Given the description of an element on the screen output the (x, y) to click on. 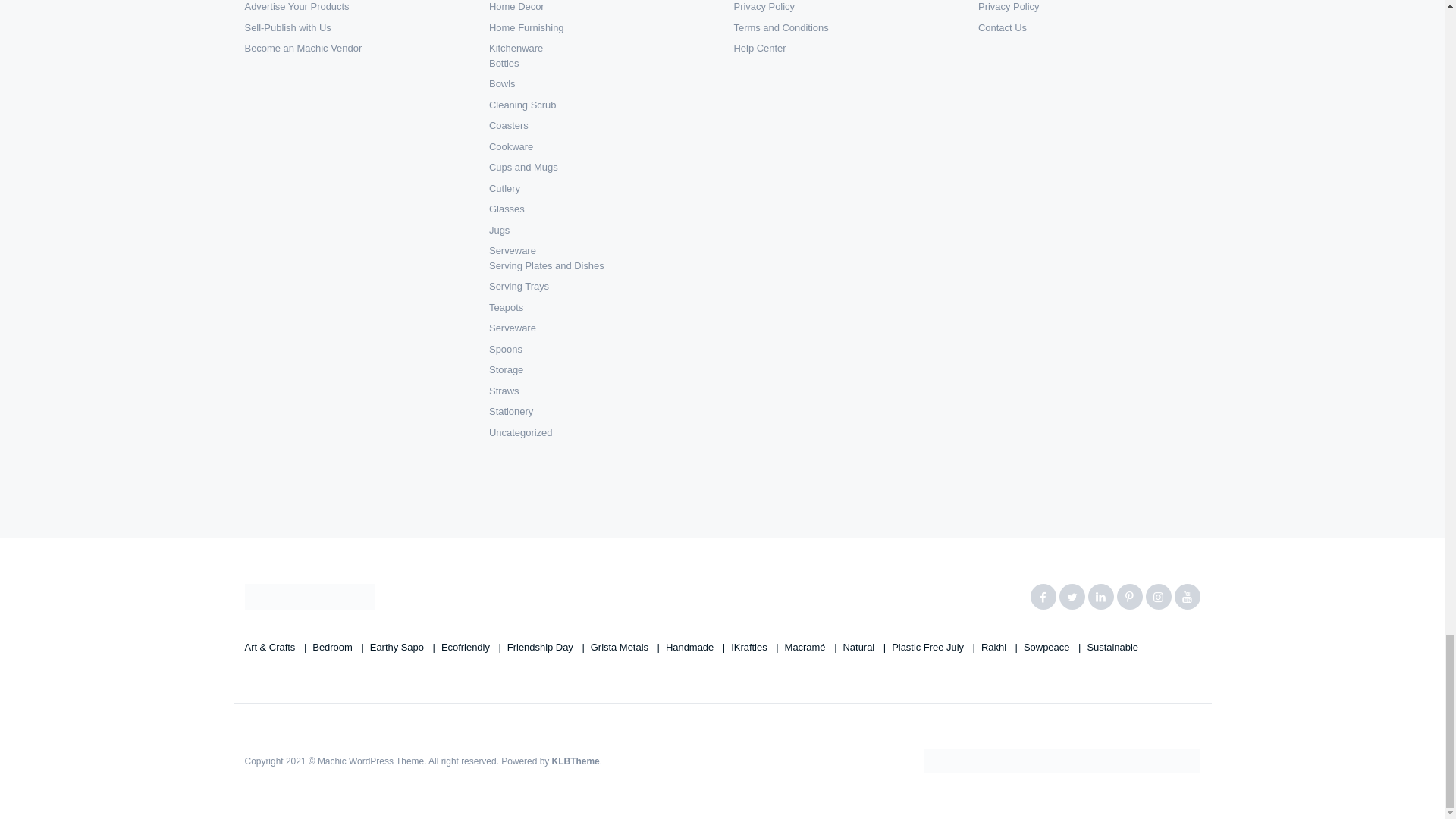
Artisan Baba (309, 596)
